Given the description of an element on the screen output the (x, y) to click on. 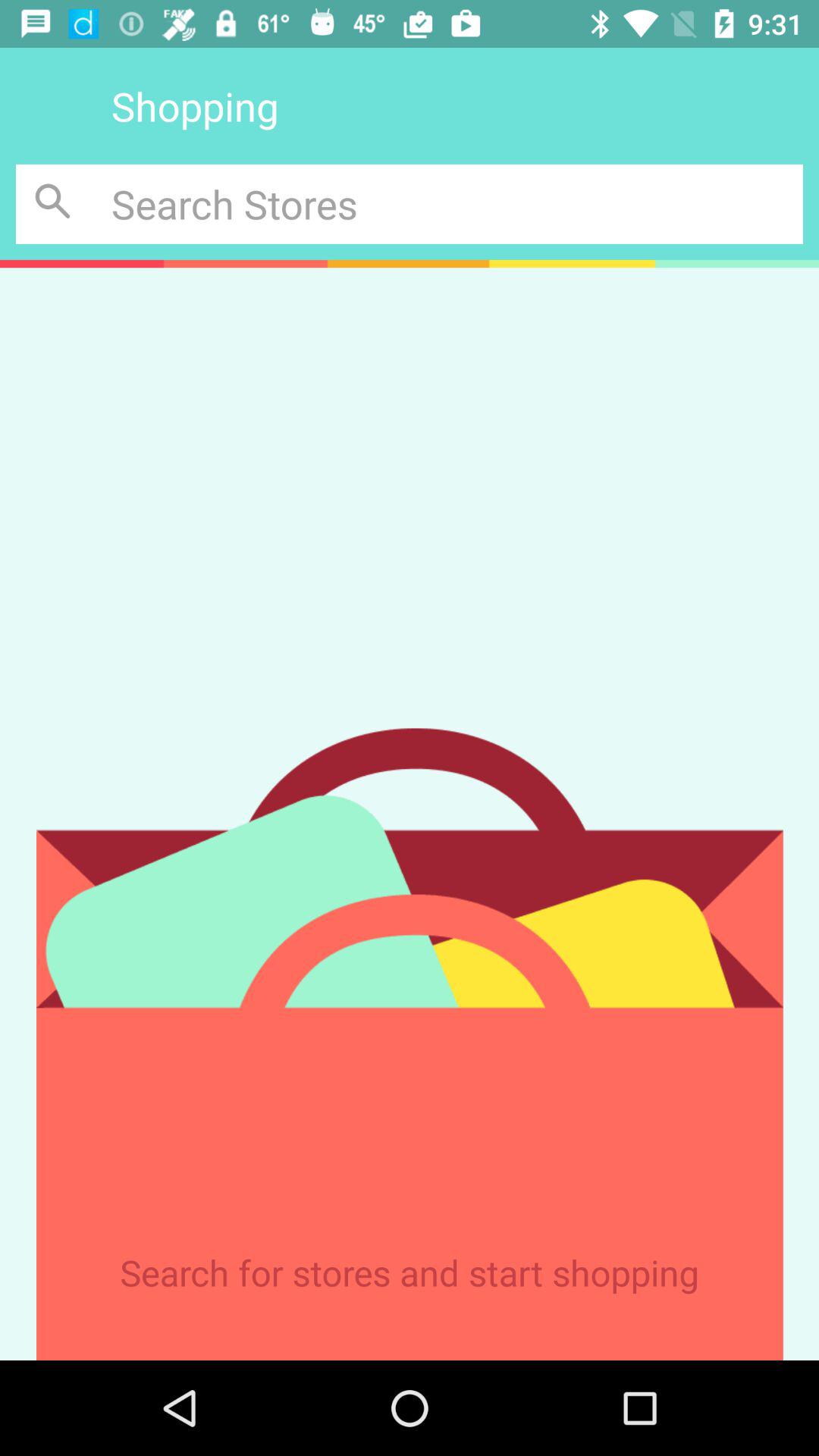
search for stores (55, 204)
